Given the description of an element on the screen output the (x, y) to click on. 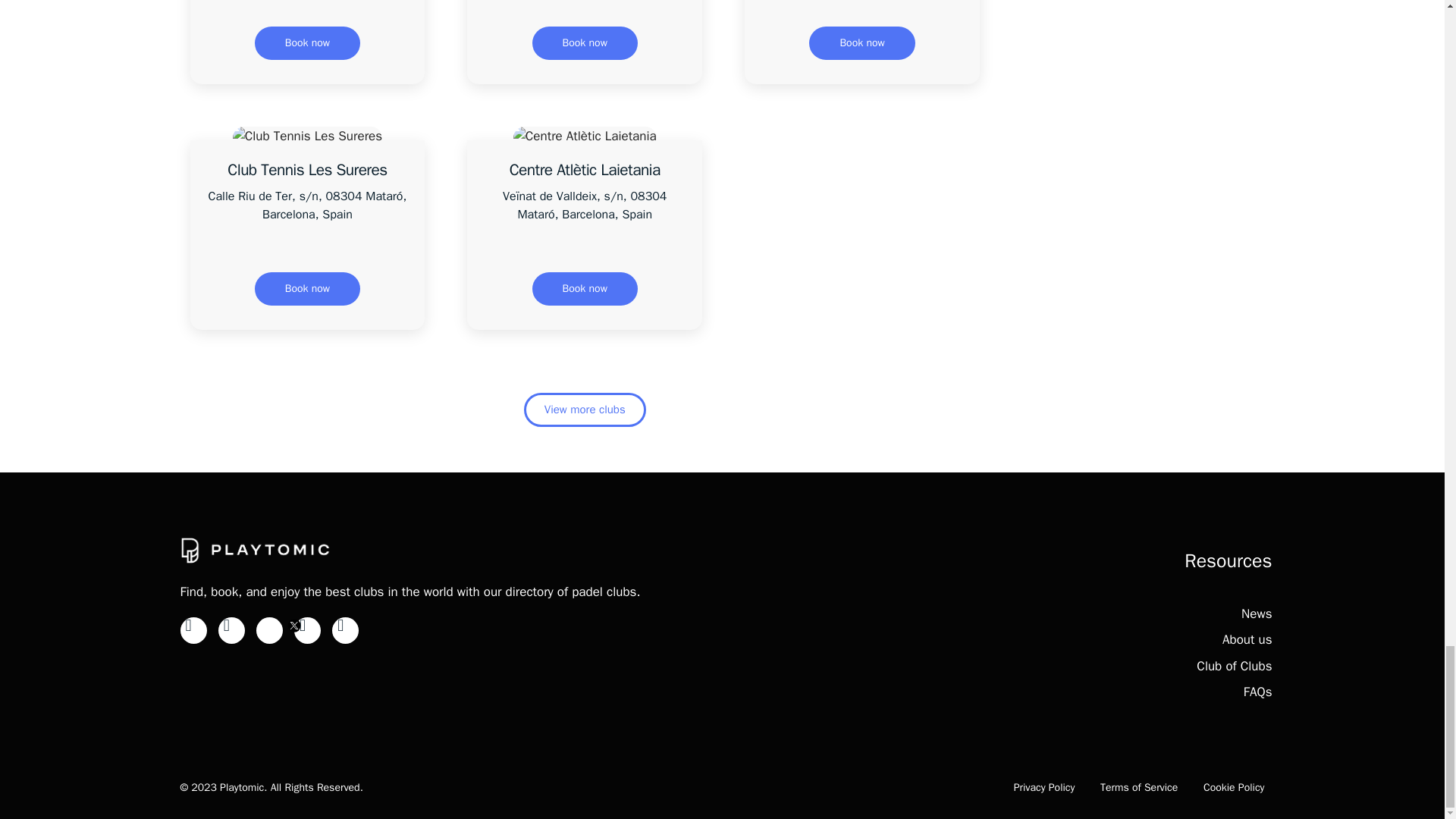
Book now (306, 288)
Book now (861, 42)
View more clubs (585, 409)
Book now (306, 42)
Book now (584, 42)
Book now (584, 288)
